Given the description of an element on the screen output the (x, y) to click on. 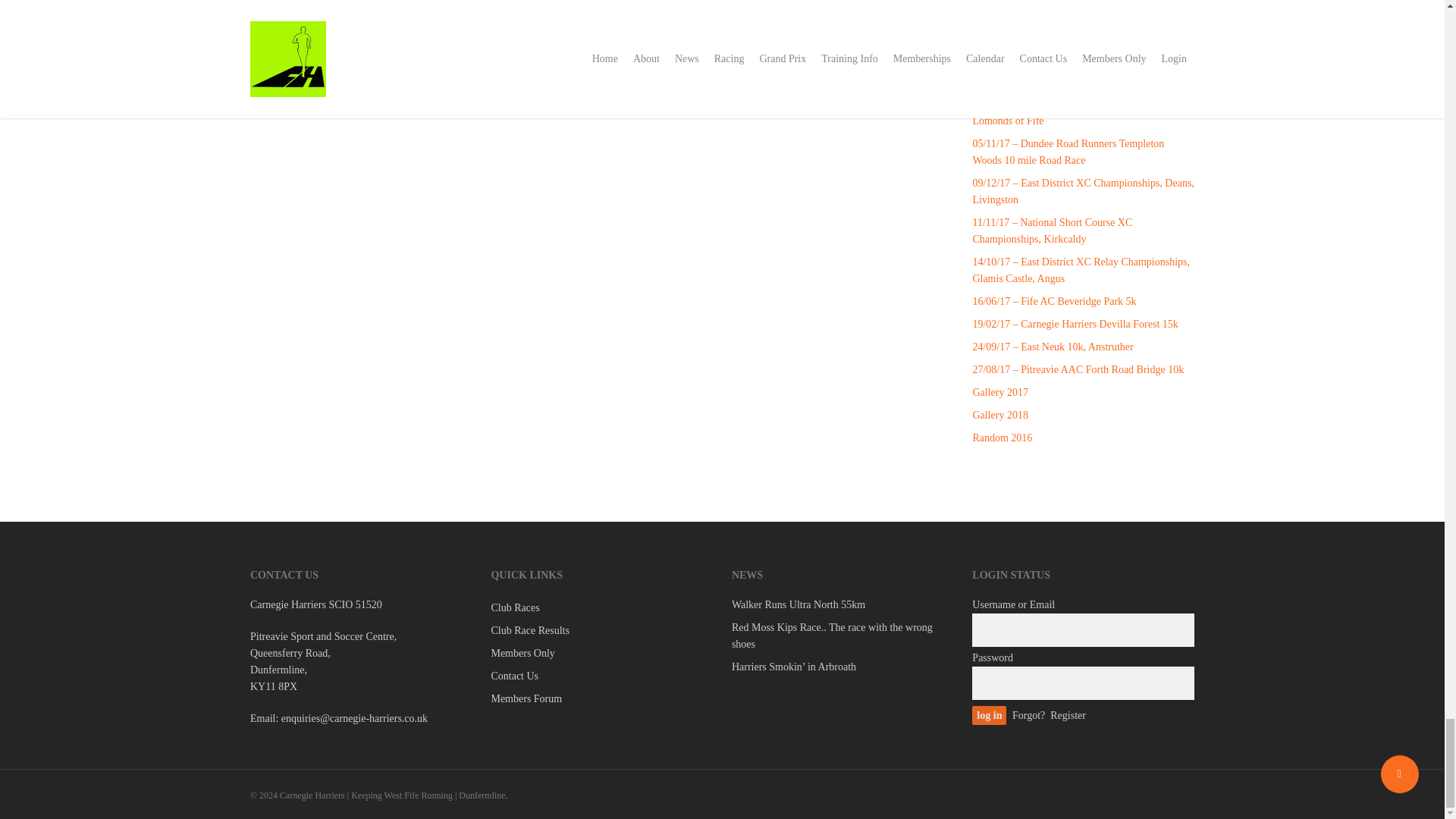
log in (989, 714)
